Given the description of an element on the screen output the (x, y) to click on. 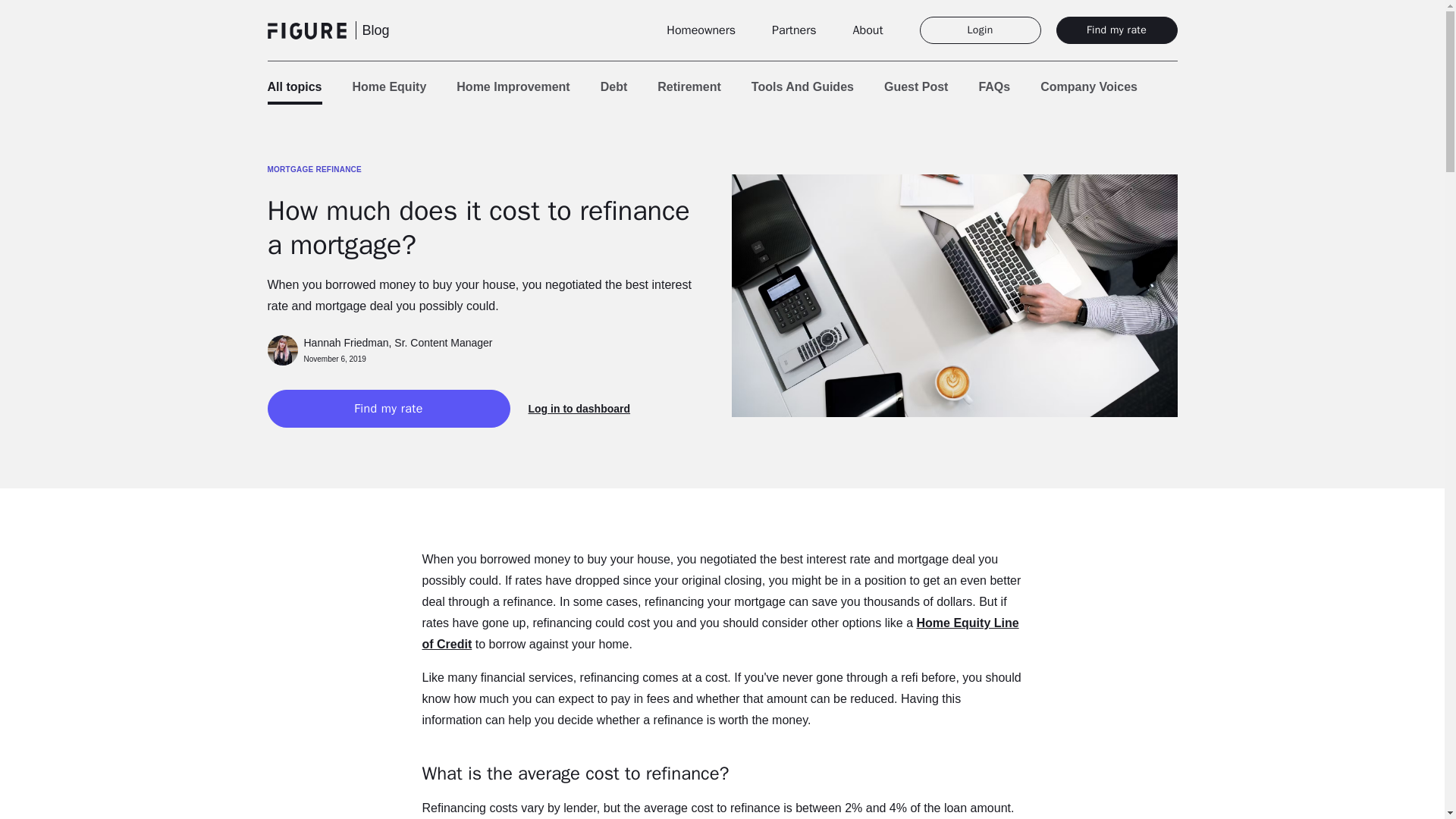
About (868, 29)
Home Equity (389, 86)
Homeowners (700, 29)
hannahfriedman (281, 349)
Blog (376, 29)
Home Improvement (513, 86)
All topics (293, 86)
Retirement (689, 86)
Tools And Guides (802, 86)
Debt (613, 86)
Partners (793, 29)
